Given the description of an element on the screen output the (x, y) to click on. 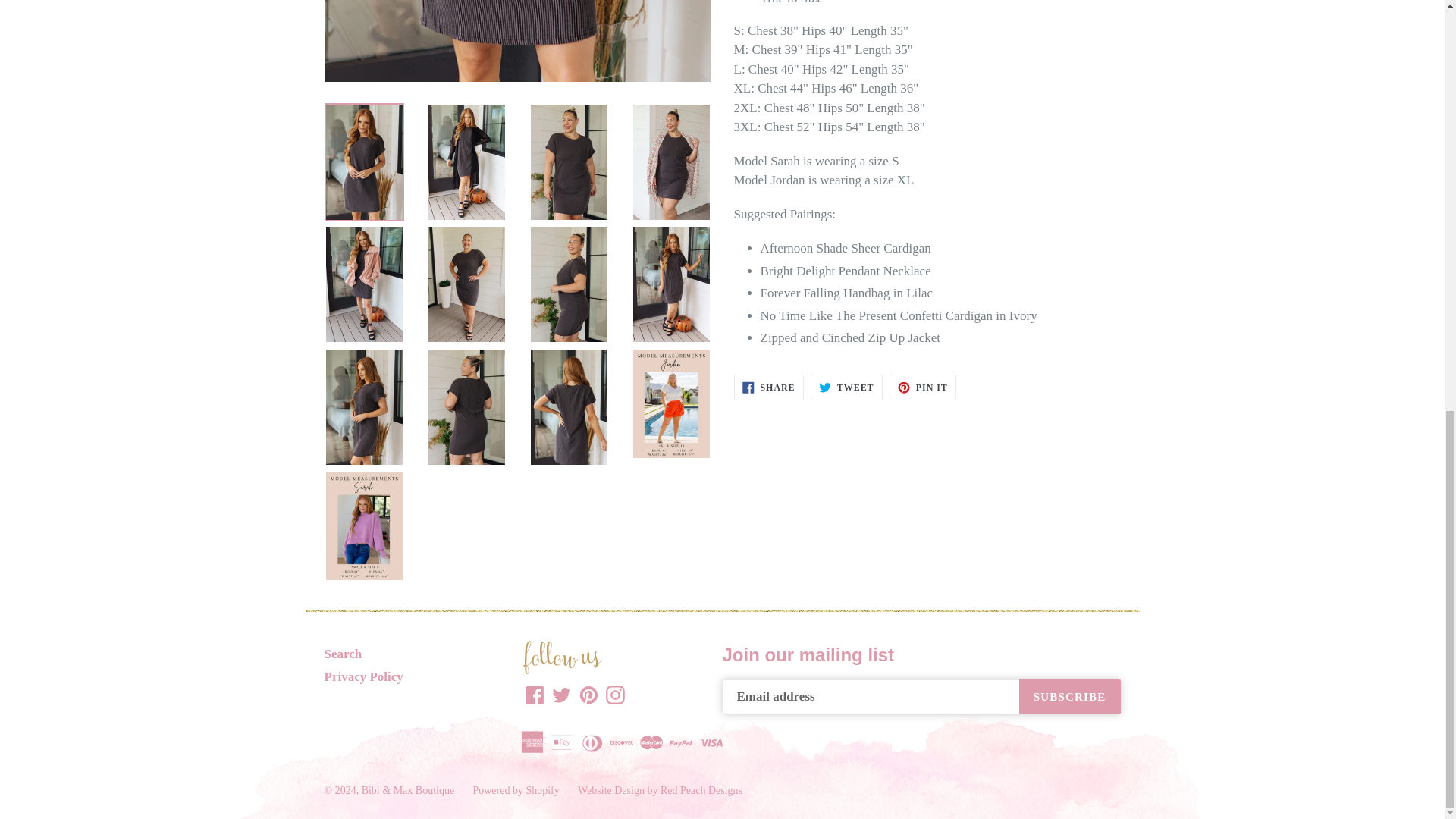
Tweet on Twitter (846, 387)
Pin on Pinterest (922, 387)
Share on Facebook (768, 387)
